Given the description of an element on the screen output the (x, y) to click on. 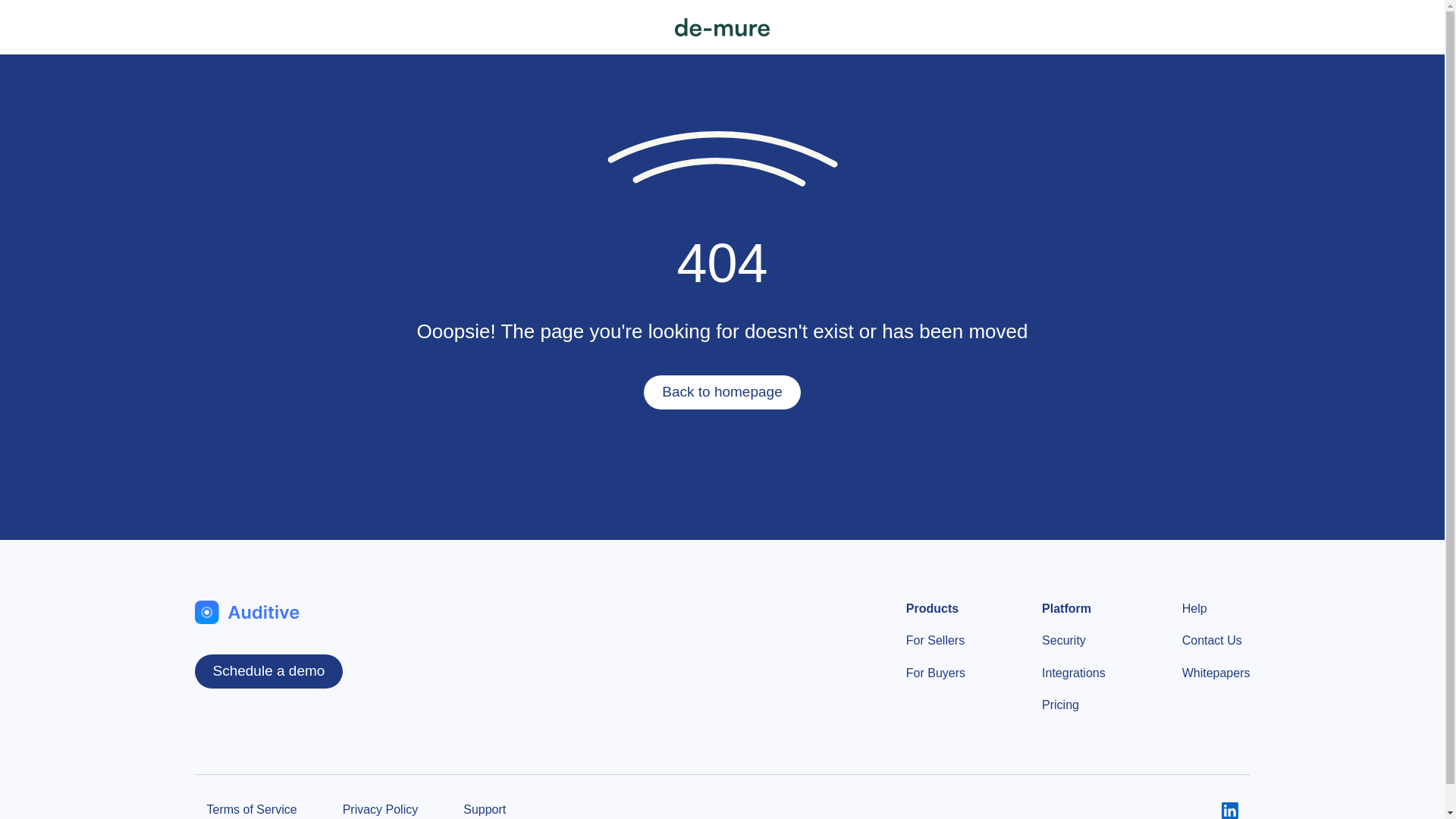
Contact Us (1211, 640)
Help (1194, 608)
Integrations (1073, 673)
Security (1064, 640)
For Buyers (935, 673)
Back to homepage (721, 392)
Support (484, 809)
Schedule a demo (267, 671)
Terms of Service (251, 809)
For Sellers (934, 640)
